Given the description of an element on the screen output the (x, y) to click on. 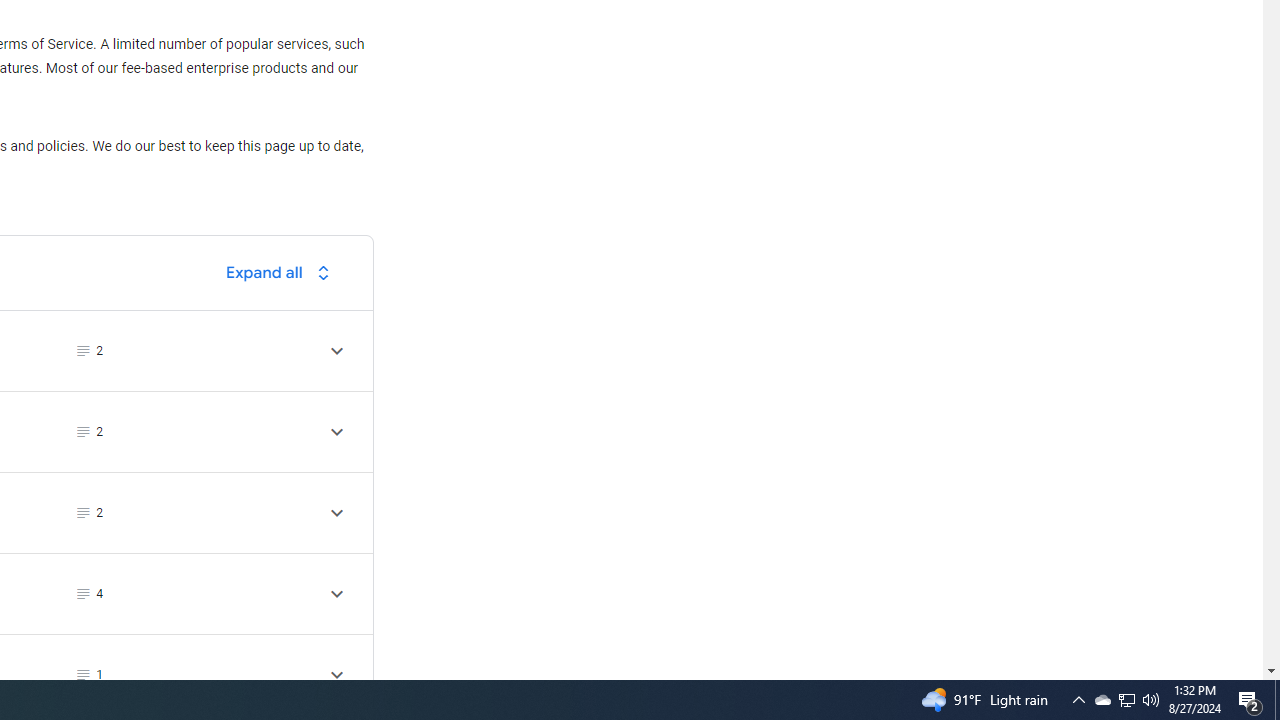
Expand all (283, 272)
